Given the description of an element on the screen output the (x, y) to click on. 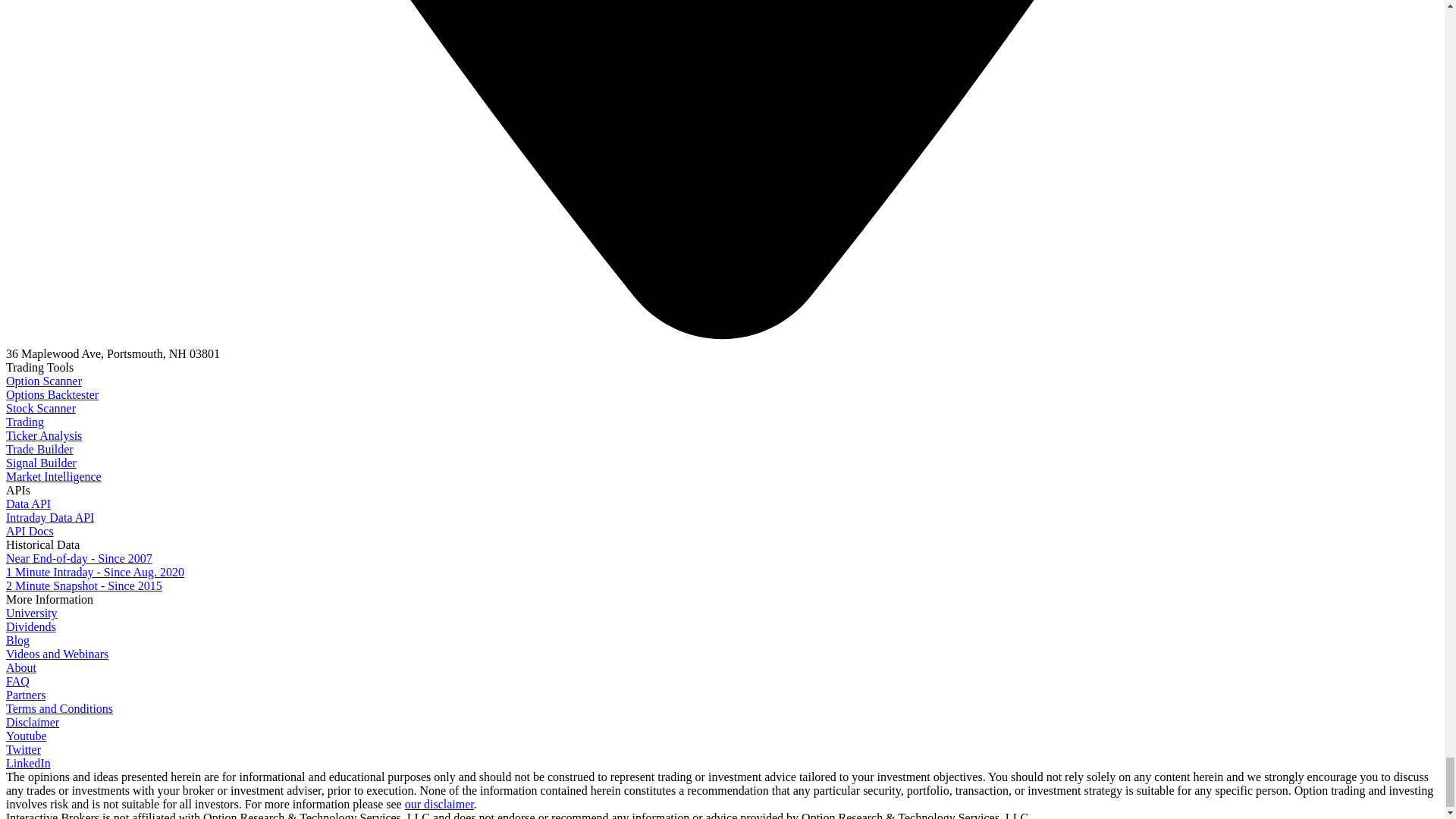
Ticker Analysis (43, 435)
Market Intelligence (53, 476)
FAQ (17, 680)
About (20, 667)
Options Backtester (52, 394)
Trade Builder (39, 449)
Blog (17, 640)
API Docs (29, 530)
Stock Scanner (40, 408)
Option Scanner (43, 380)
Trading (24, 421)
Data API (27, 503)
Signal Builder (41, 462)
Dividends (30, 626)
University (31, 612)
